Given the description of an element on the screen output the (x, y) to click on. 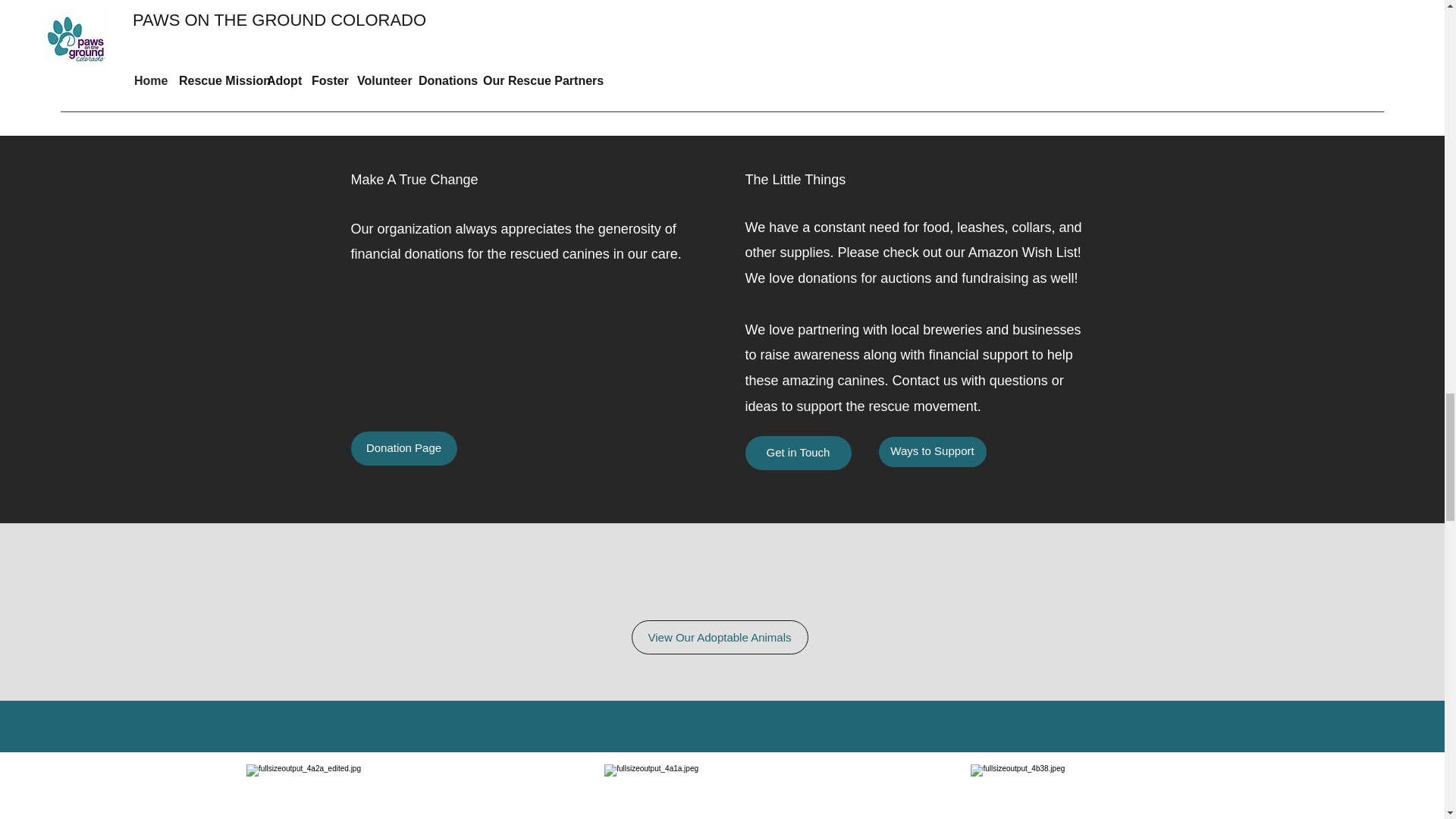
Get in Touch (797, 452)
Ways to Support (931, 451)
Donation Page (403, 448)
View Our Adoptable Animals (719, 636)
